Given the description of an element on the screen output the (x, y) to click on. 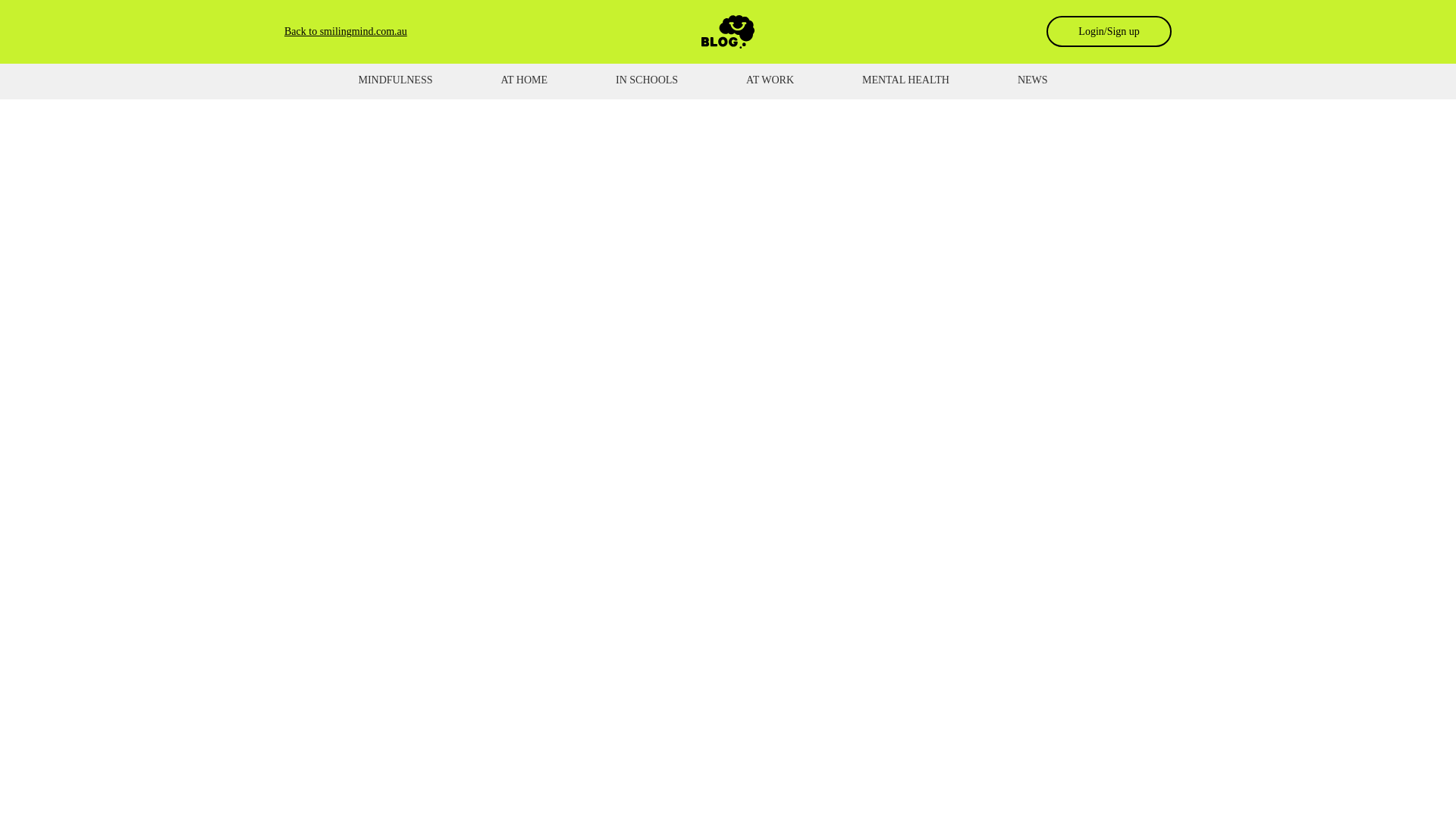
NEWS (1032, 80)
AT WORK (770, 80)
MINDFULNESS (394, 80)
Back to smilingmind.com.au (345, 30)
MENTAL HEALTH (905, 80)
IN SCHOOLS (646, 80)
AT HOME (523, 80)
